Given the description of an element on the screen output the (x, y) to click on. 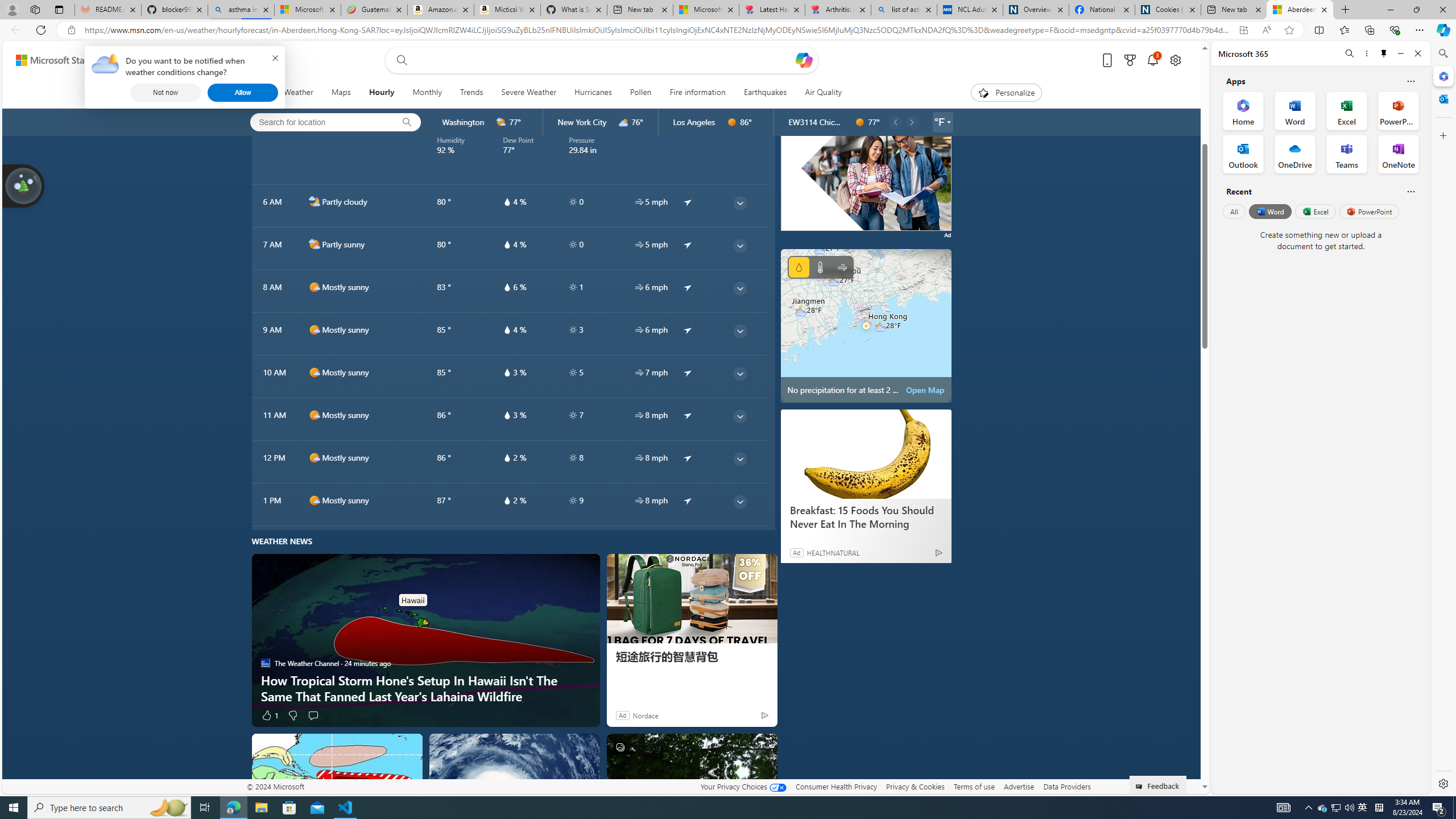
Join us in planting real trees to help our planet! (23, 185)
Wind (842, 267)
Severe Weather (529, 92)
hourlyTable/drop (506, 500)
Open Map (924, 390)
Air Quality (824, 92)
The Weather Channel (265, 662)
